Given the description of an element on the screen output the (x, y) to click on. 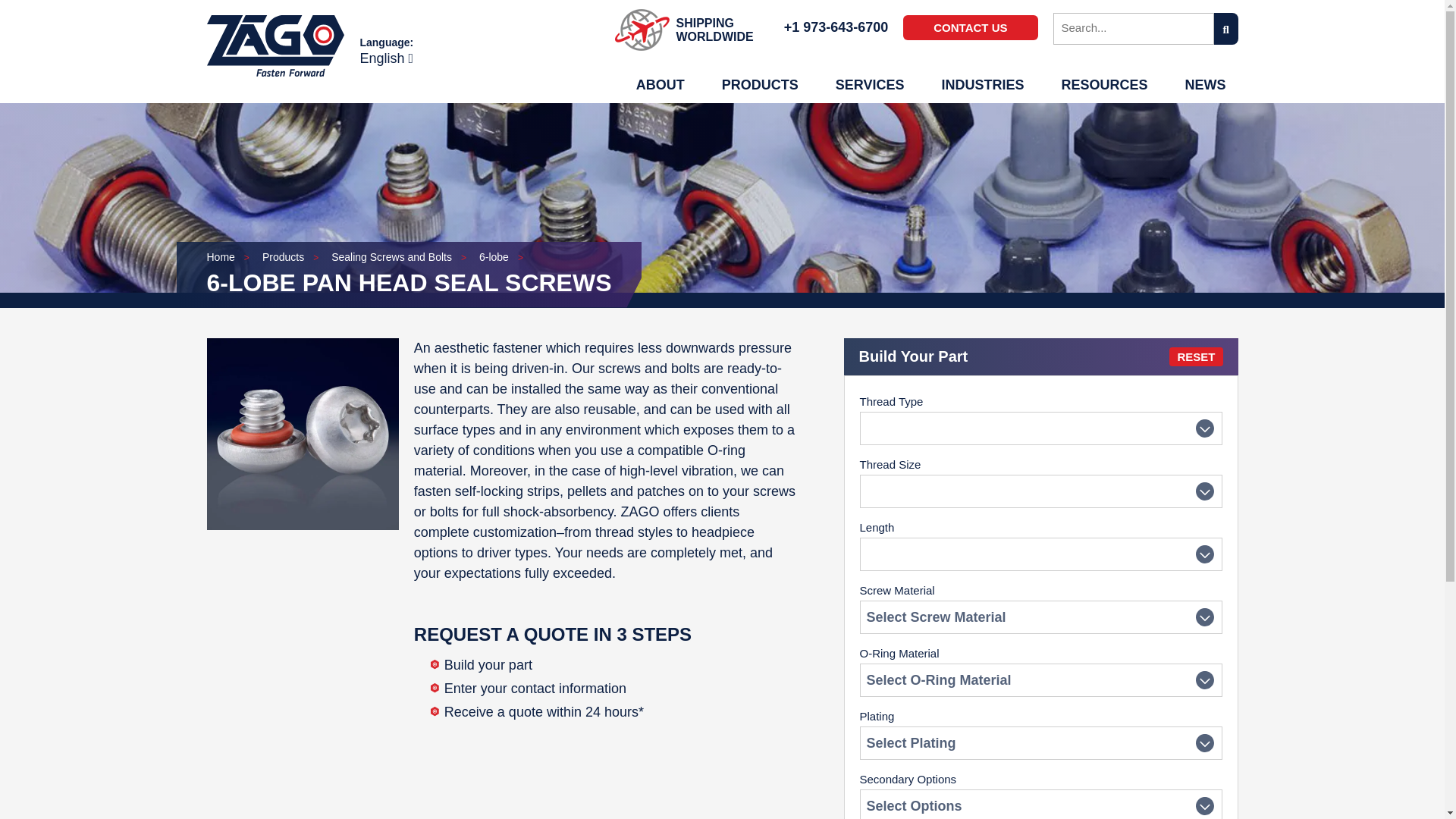
SERVICES (870, 85)
RESOURCES (1103, 85)
ABOUT (660, 85)
CONTACT US (969, 27)
NEWS (1204, 85)
PRODUCTS (760, 85)
INDUSTRIES (981, 85)
Search (1132, 29)
